Given the description of an element on the screen output the (x, y) to click on. 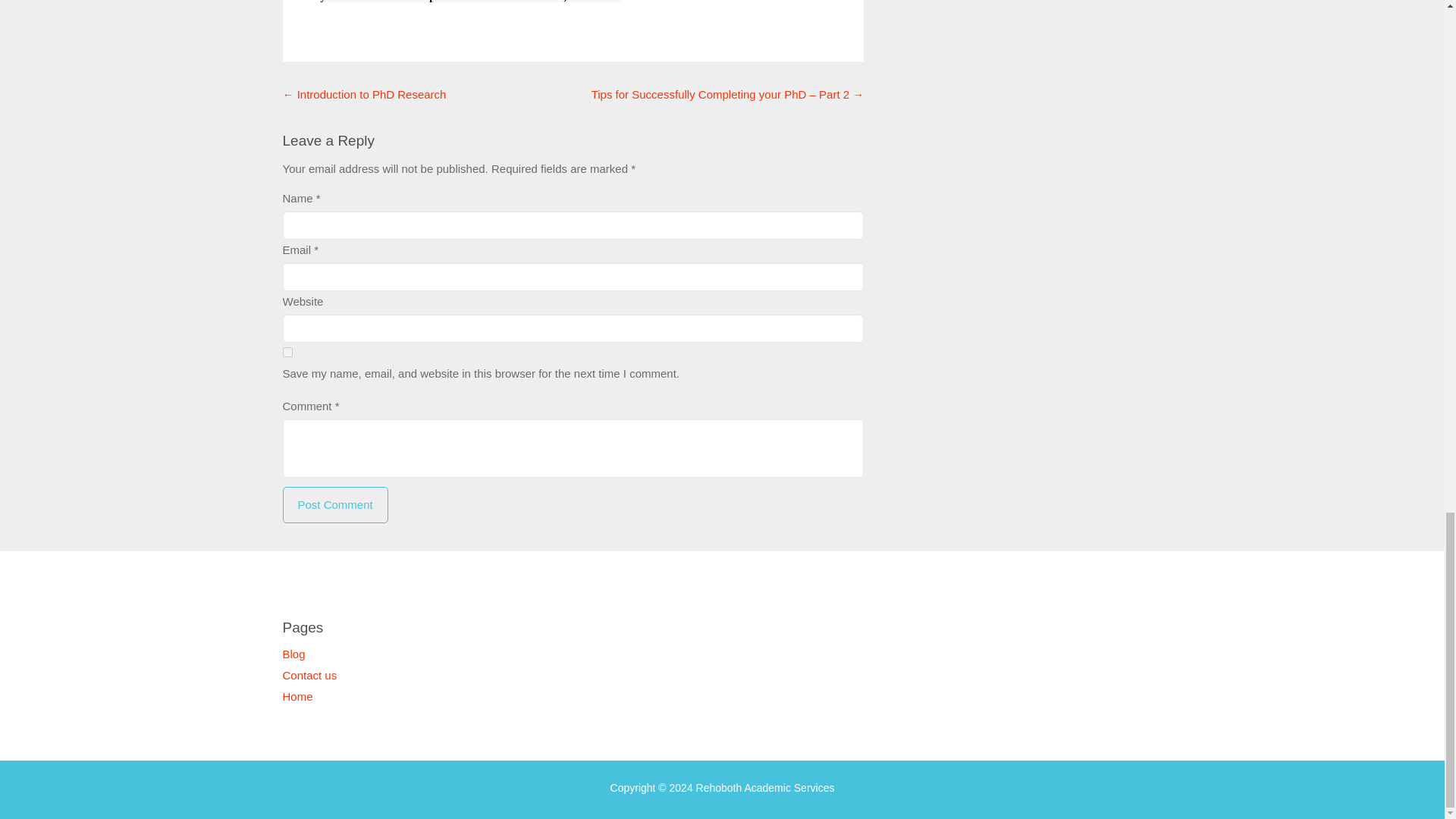
yes (287, 352)
Contact us (309, 675)
Home (297, 696)
Rehoboth Academic Services (764, 787)
Blog (293, 653)
contact us  (484, 1)
Post Comment (334, 504)
Post Comment (334, 504)
